Given the description of an element on the screen output the (x, y) to click on. 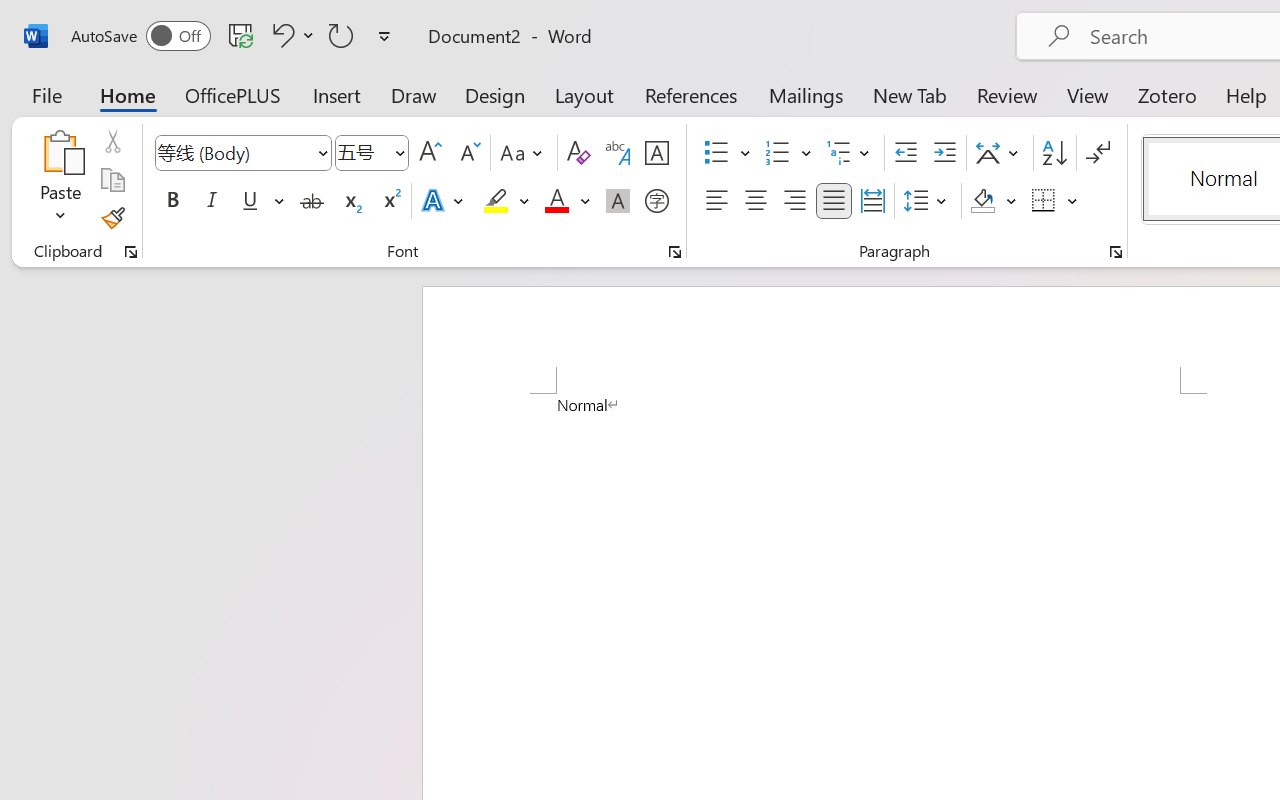
AutoSave (140, 35)
Underline (250, 201)
Font Color (567, 201)
Mailings (806, 94)
References (690, 94)
Font Size (372, 153)
Cut (112, 141)
Clear Formatting (578, 153)
Shrink Font (468, 153)
Paragraph... (1115, 252)
Text Highlight Color Yellow (495, 201)
Sort... (1054, 153)
Layout (584, 94)
